Given the description of an element on the screen output the (x, y) to click on. 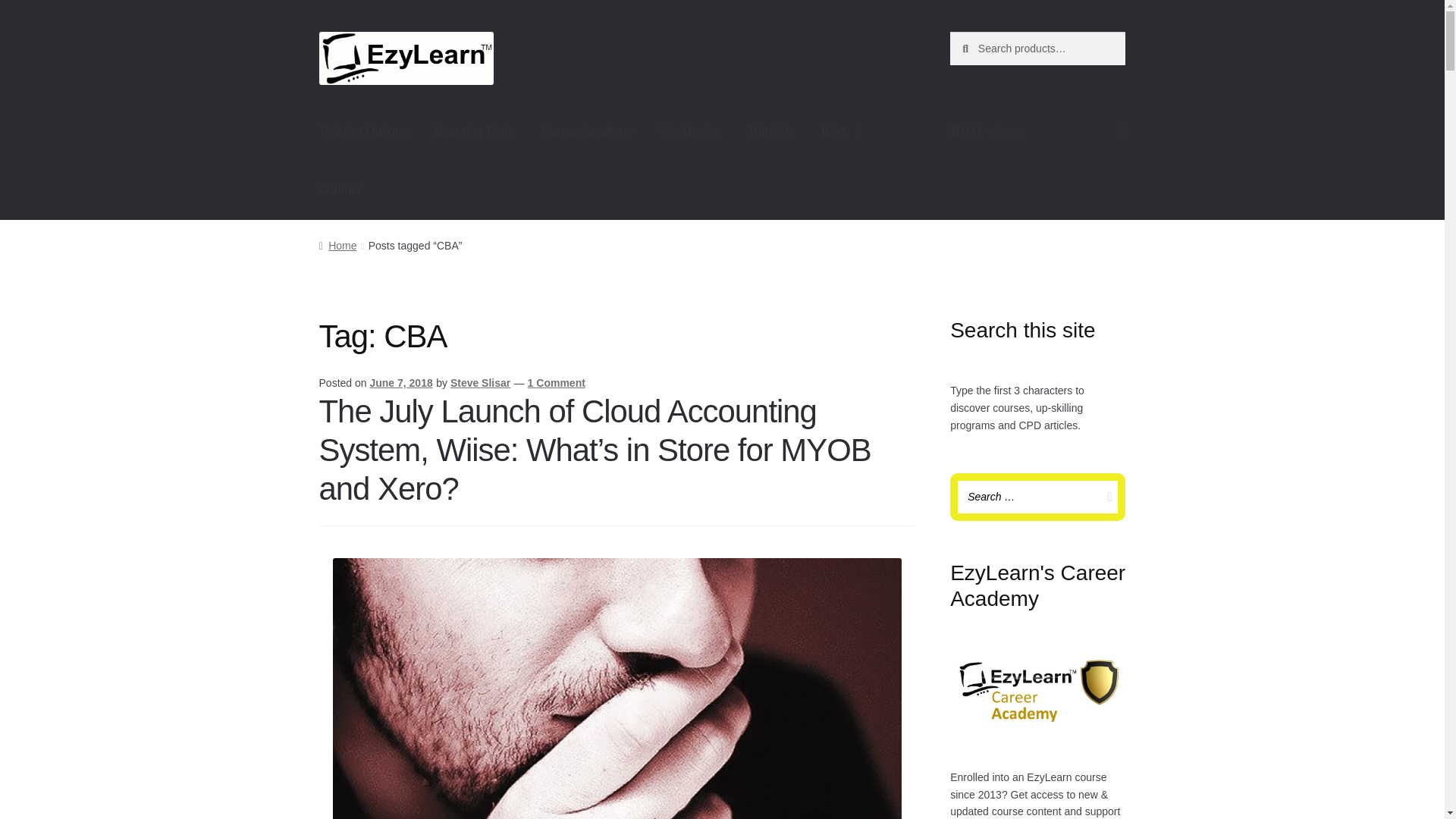
Career Academy (586, 130)
Contact (339, 190)
Training Options (363, 130)
Steve Slisar (480, 382)
June 7, 2018 (400, 382)
View your shopping cart (1037, 130)
Blog (842, 130)
Learning Tools (474, 130)
1 Comment (556, 382)
Tutorials (770, 130)
Home (337, 245)
Workbooks (689, 130)
